Given the description of an element on the screen output the (x, y) to click on. 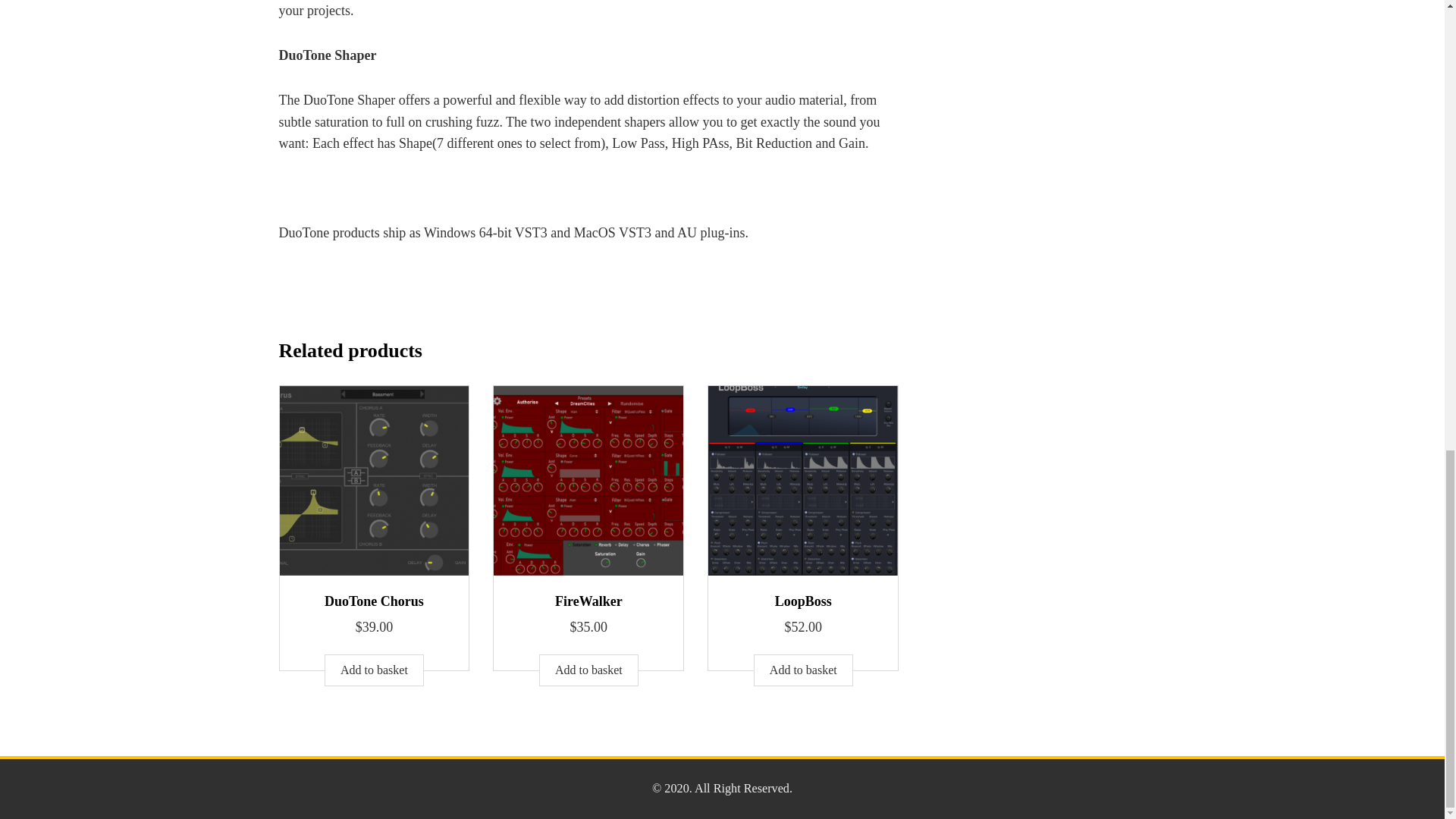
Add to basket (588, 670)
Add to basket (373, 670)
DuoTone Chorus (373, 601)
FireWalker (588, 601)
